Given the description of an element on the screen output the (x, y) to click on. 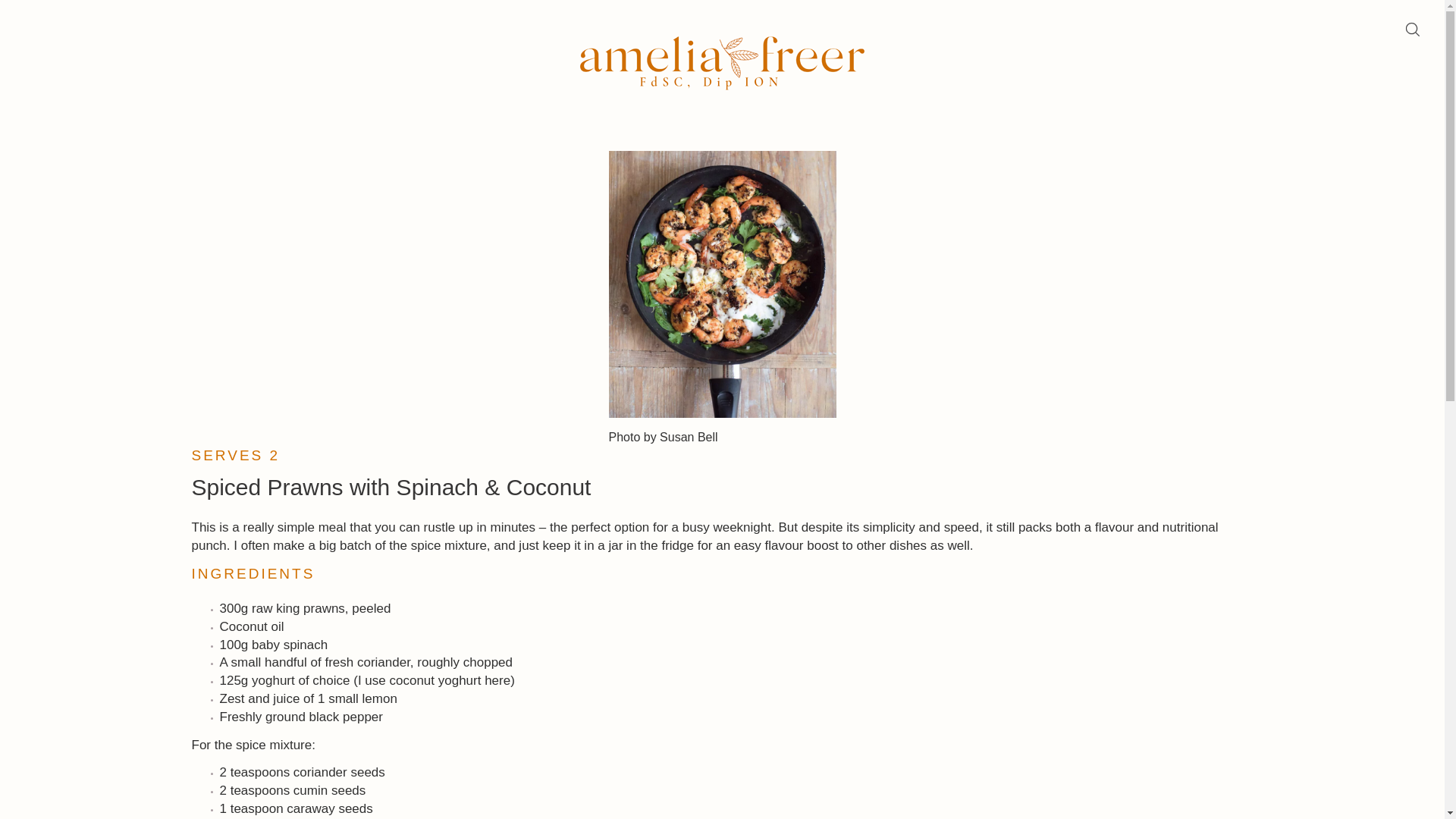
Amelia Freer (722, 63)
